Given the description of an element on the screen output the (x, y) to click on. 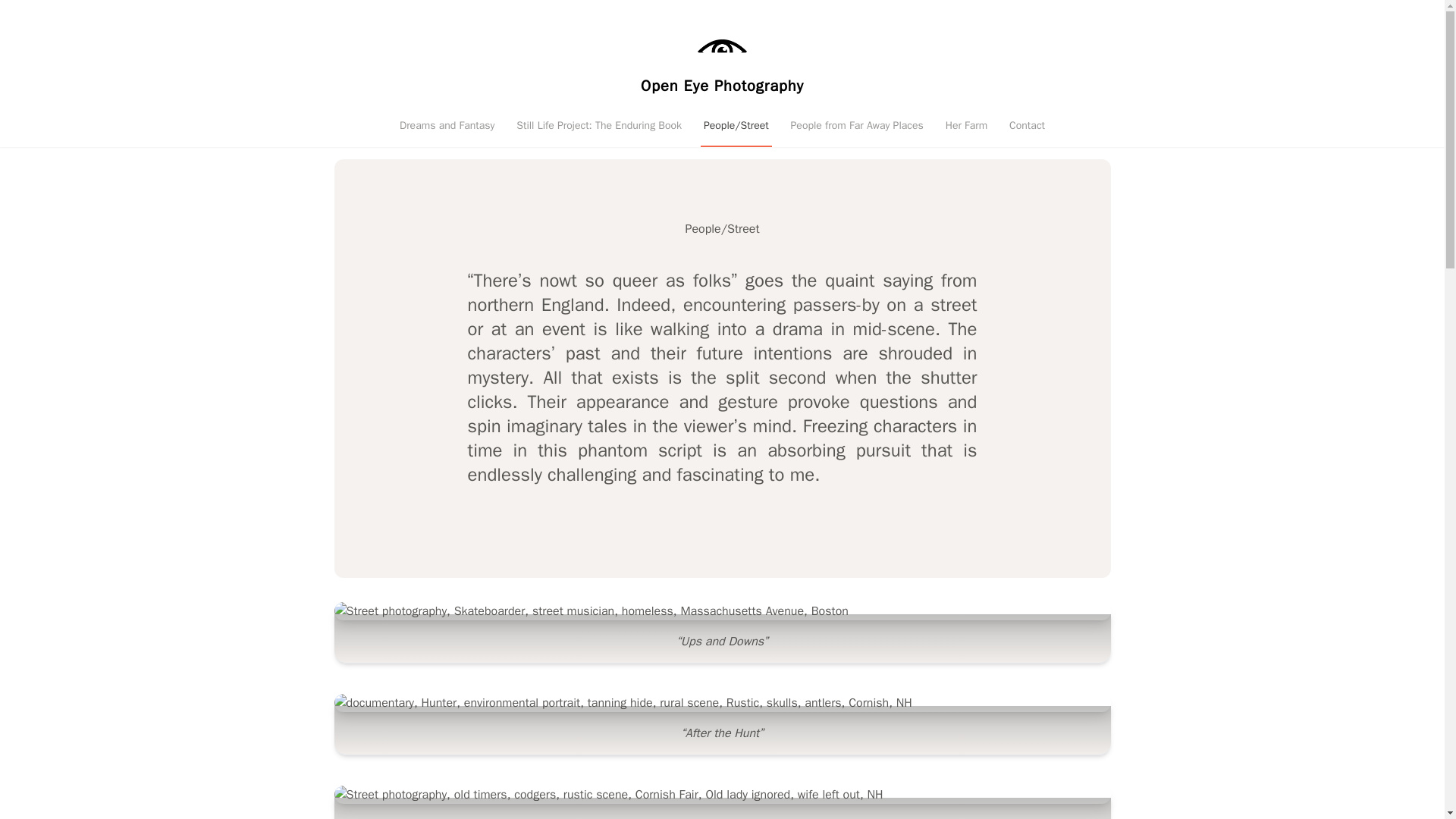
Her Farm (966, 125)
Open Eye Photography (721, 86)
Still Life Project: The Enduring Book (598, 125)
People from Far Away Places (856, 125)
Dreams and Fantasy (446, 125)
Contact (1027, 125)
